Given the description of an element on the screen output the (x, y) to click on. 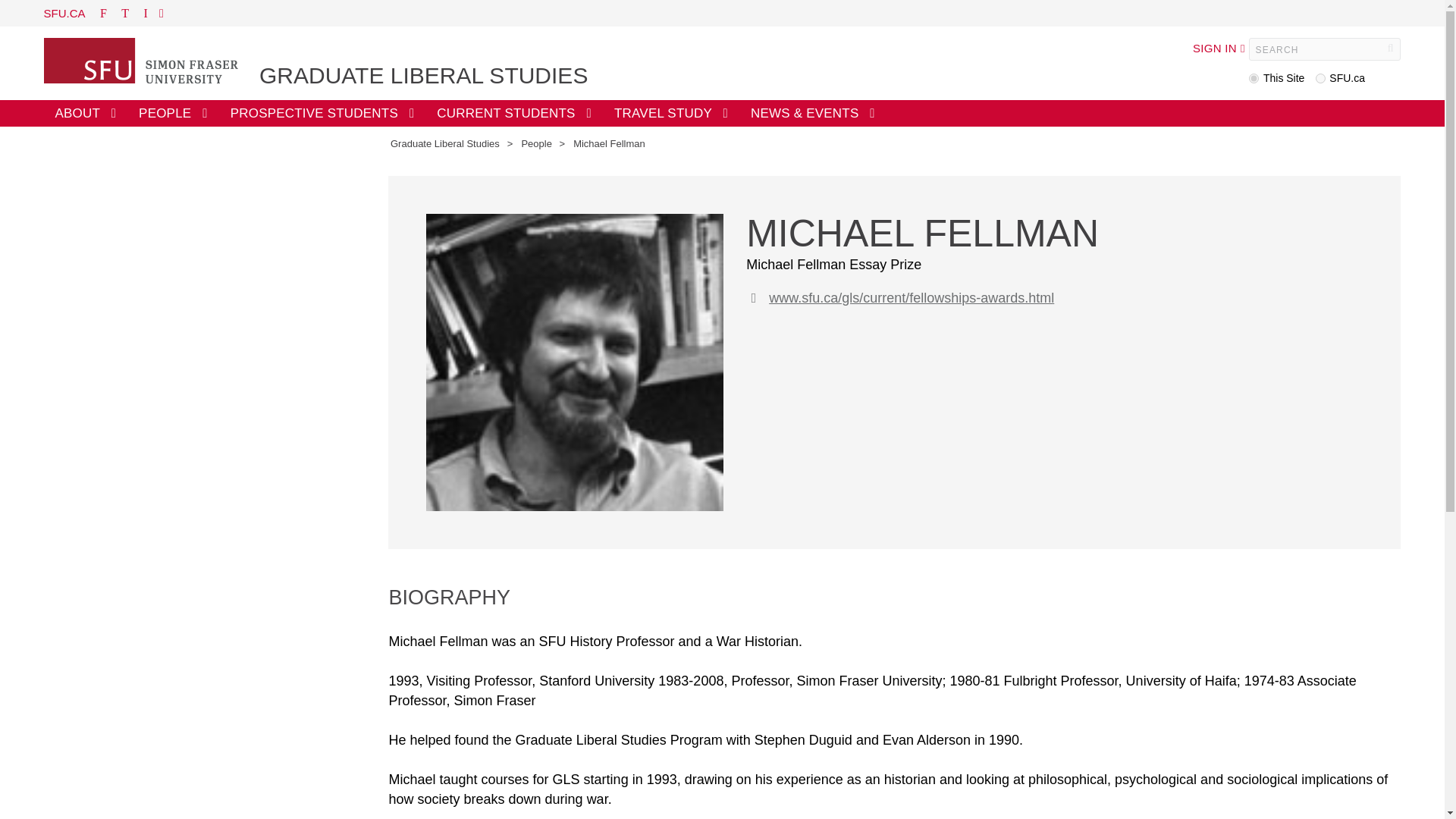
SFU.CA (64, 11)
TRAVEL STUDY (670, 112)
CURRENT STUDENTS (513, 112)
sfu (1320, 78)
PEOPLE (173, 112)
site (1254, 78)
Graduate Liberal Studies (444, 143)
ABOUT (85, 112)
People (536, 143)
PROSPECTIVE STUDENTS (322, 112)
